Given the description of an element on the screen output the (x, y) to click on. 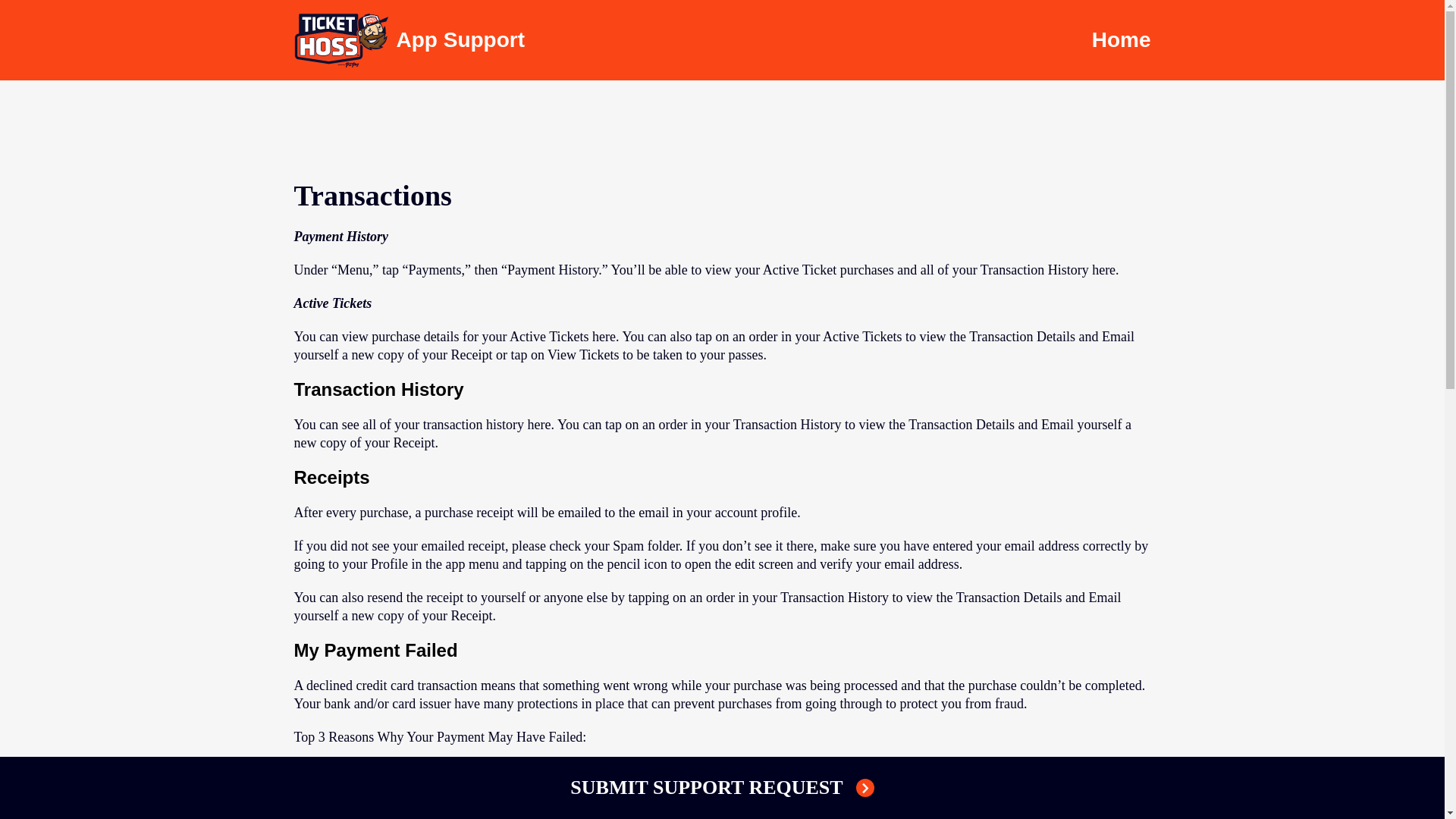
Home (1121, 39)
App Support (409, 40)
